Given the description of an element on the screen output the (x, y) to click on. 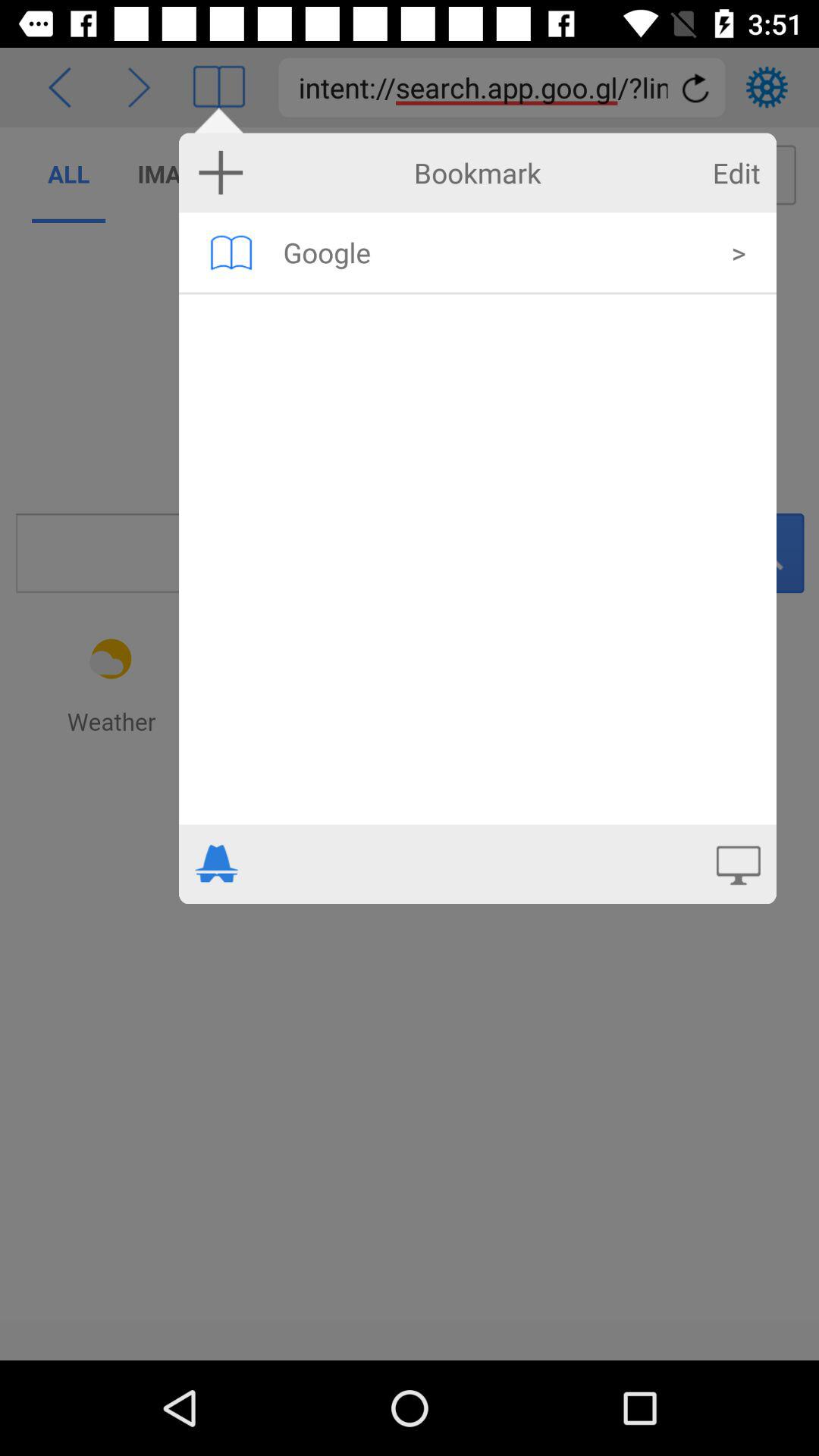
add new bookmark (220, 172)
